Given the description of an element on the screen output the (x, y) to click on. 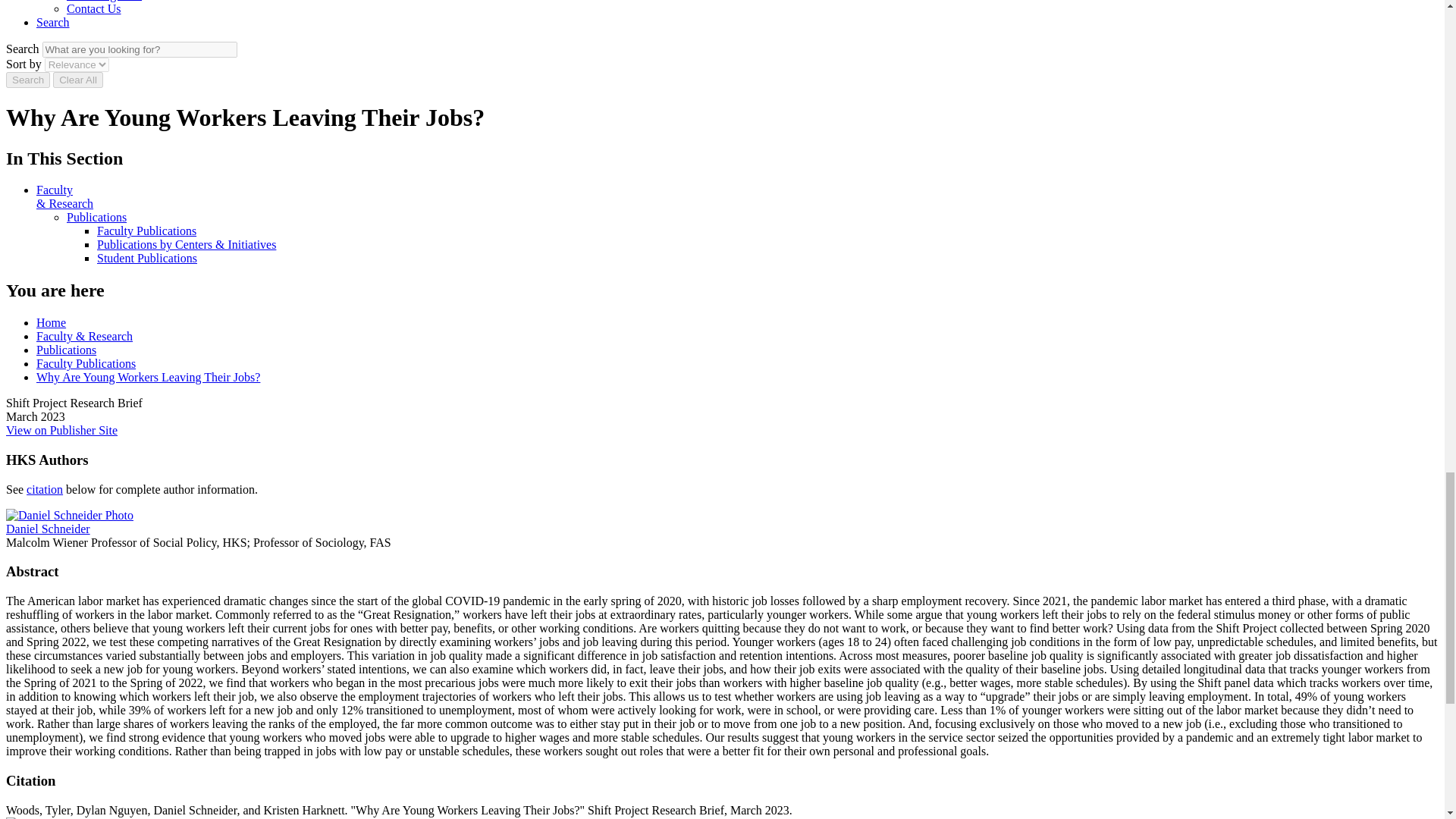
Search (27, 79)
Publications at HKS (96, 216)
Student Publications at HKS (146, 257)
Clear All (77, 79)
Harvard Kennedy School (73, 818)
